Given the description of an element on the screen output the (x, y) to click on. 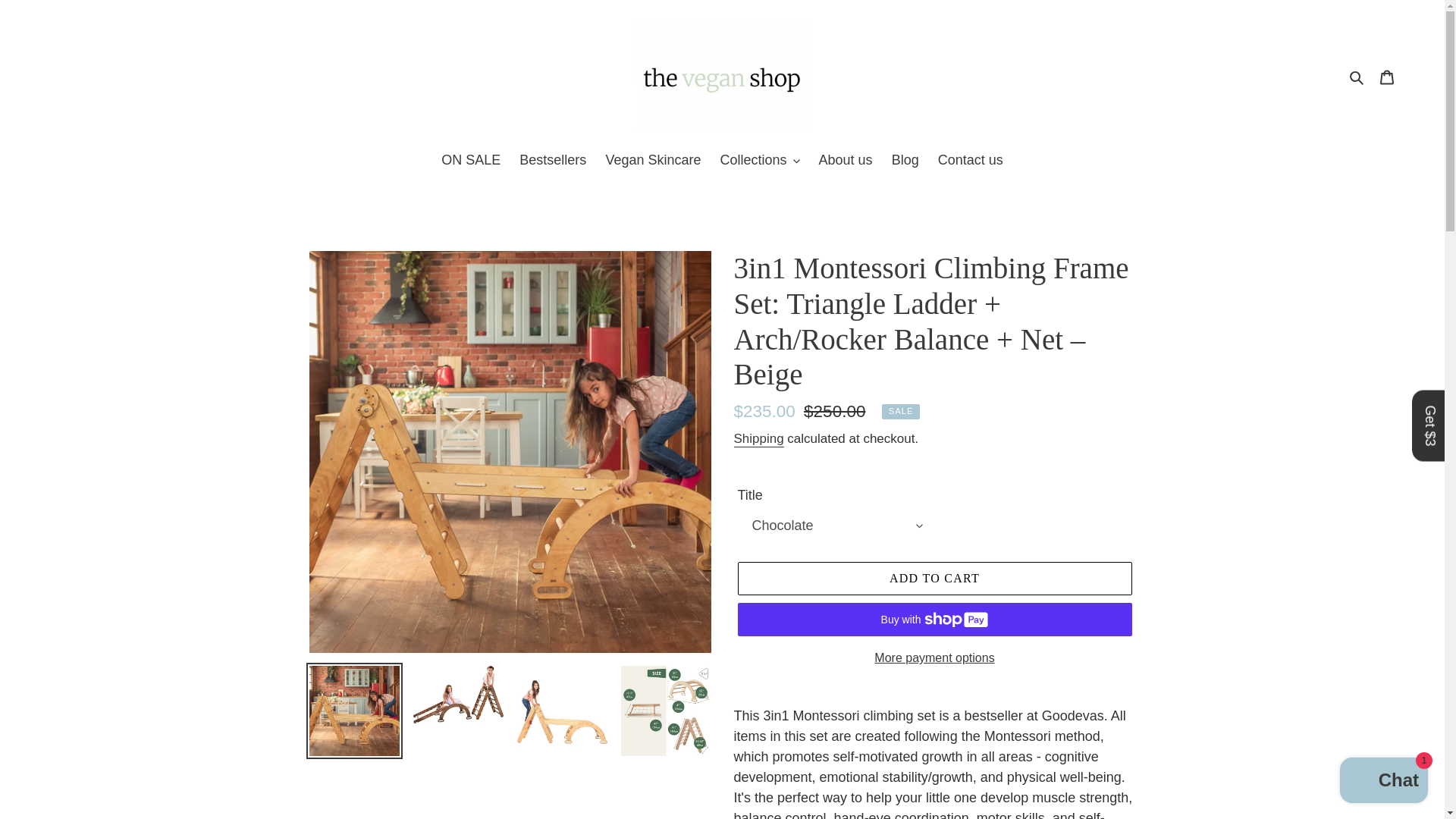
ON SALE (470, 160)
Bestsellers (553, 160)
Cart (1387, 76)
Contact us (970, 160)
Blog (904, 160)
Vegan Skincare (651, 160)
Collections (758, 160)
Shopify online store chat (1383, 781)
About us (845, 160)
Search (1357, 76)
